Given the description of an element on the screen output the (x, y) to click on. 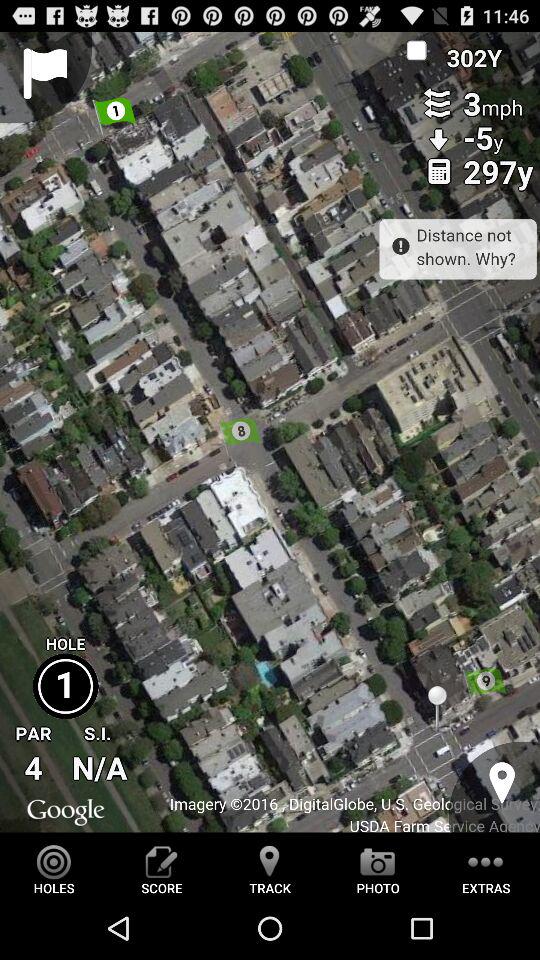
full page (270, 431)
